Given the description of an element on the screen output the (x, y) to click on. 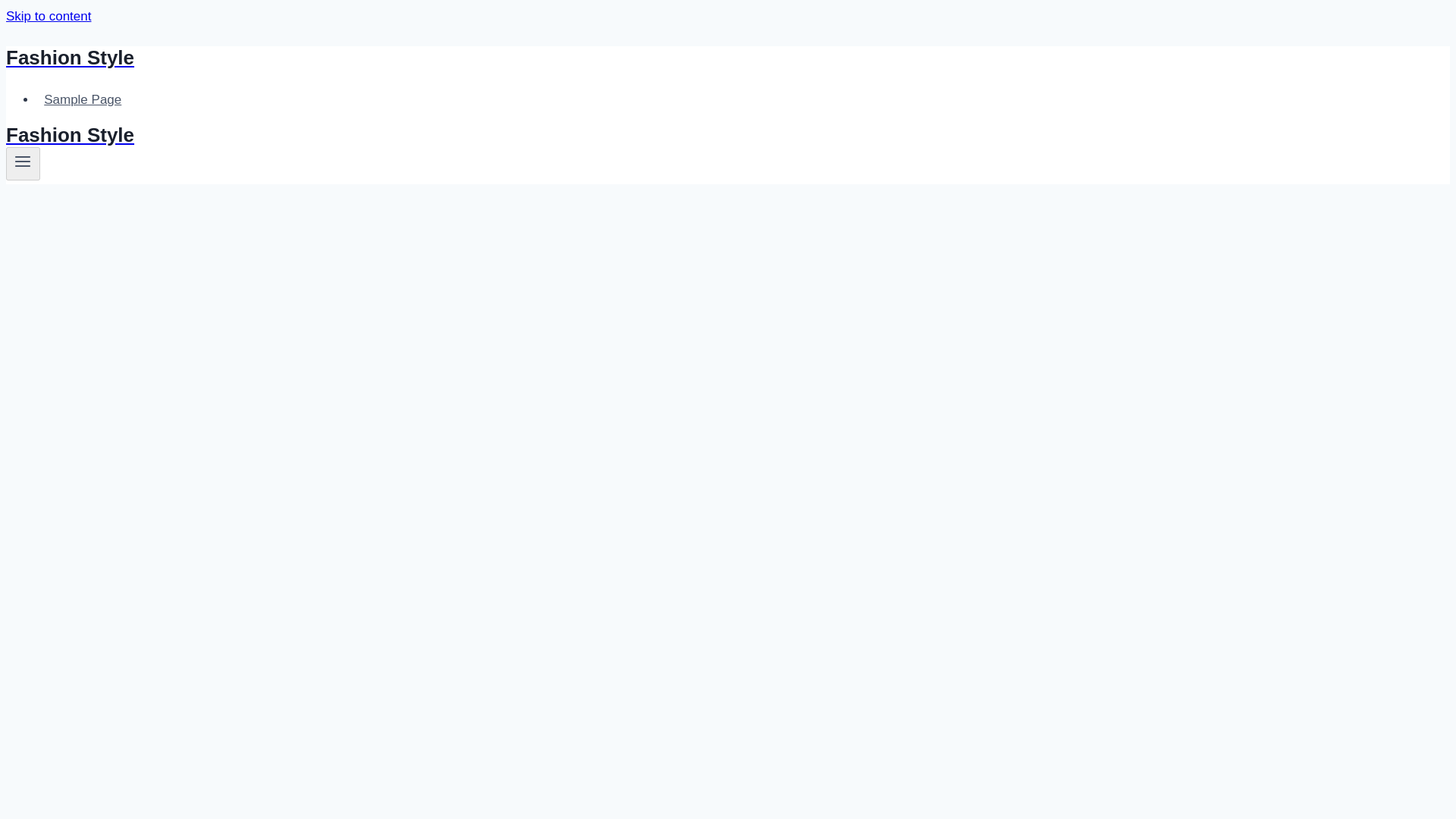
Skip to content (47, 16)
Sample Page (82, 99)
Skip to content (47, 16)
Toggle Menu (22, 161)
Fashion Style (494, 57)
Fashion Style (494, 135)
